Given the description of an element on the screen output the (x, y) to click on. 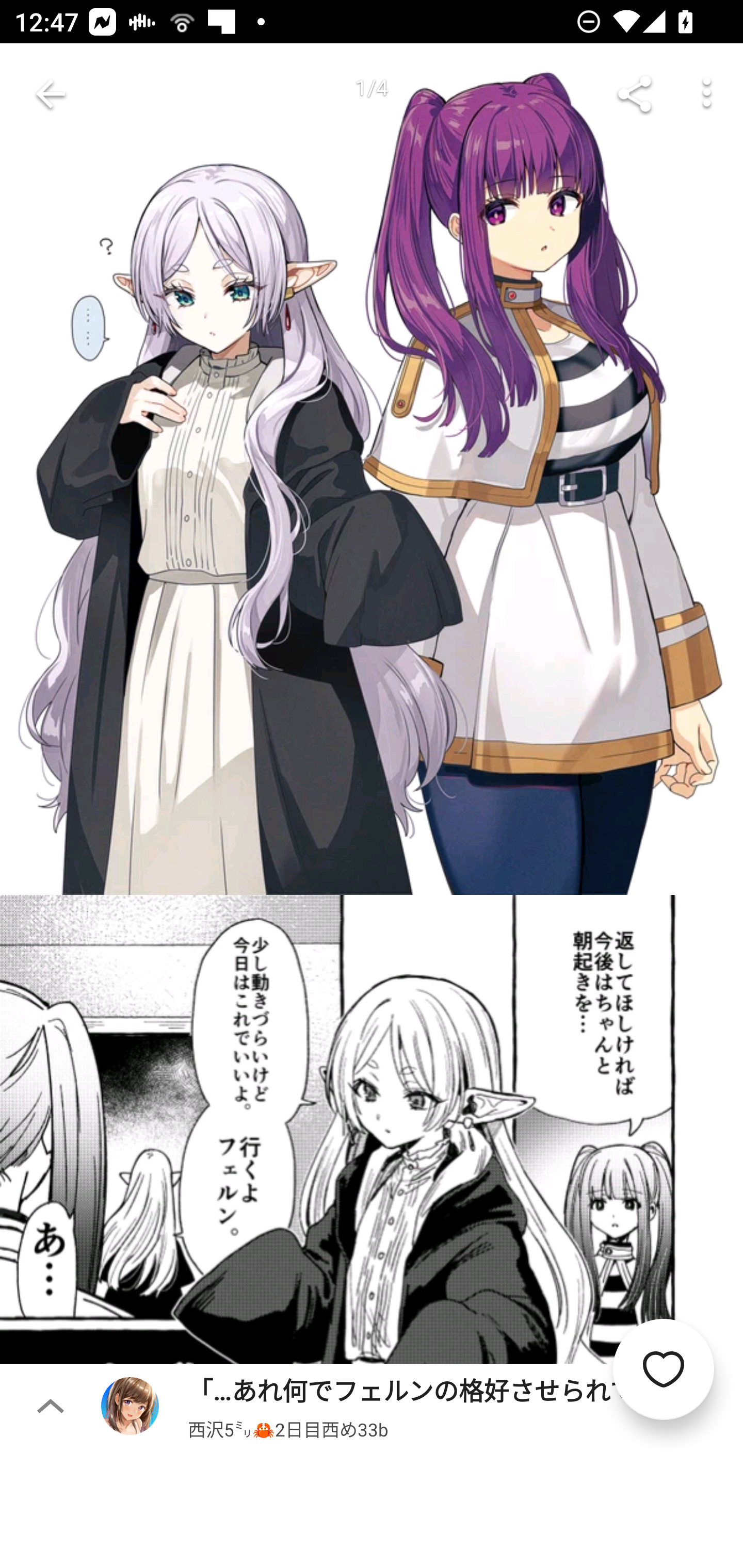
Share (634, 93)
More options (706, 93)
「…あれ何でフェルンの格好させられてるんだ。」 西沢5㍉🦀2日目西め33b (422, 1405)
西沢5㍉🦀2日目西め33b (287, 1427)
